Given the description of an element on the screen output the (x, y) to click on. 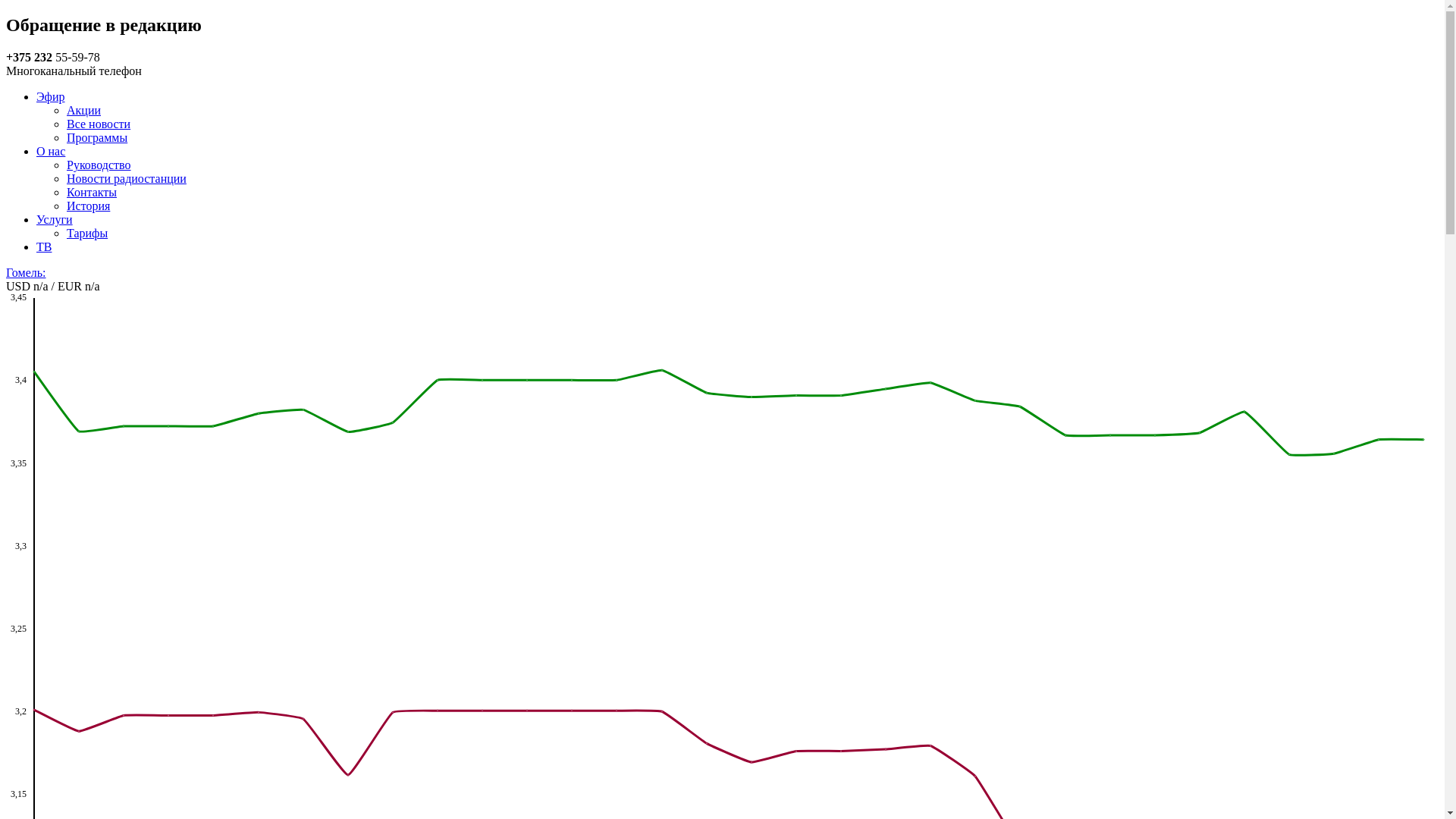
USD n/a / EUR n/a Element type: text (53, 285)
